Given the description of an element on the screen output the (x, y) to click on. 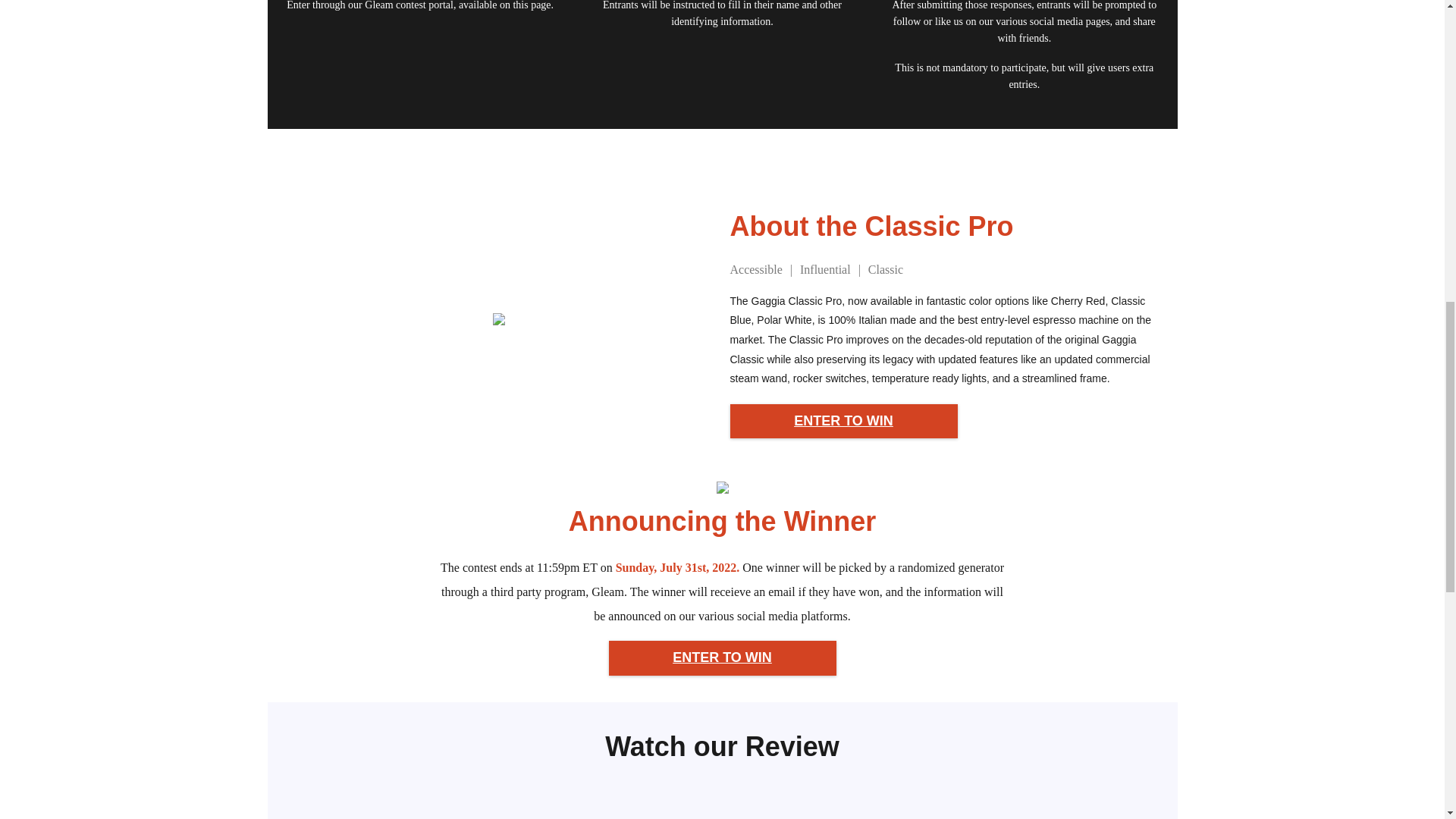
YouTube video player (650, 800)
